Given the description of an element on the screen output the (x, y) to click on. 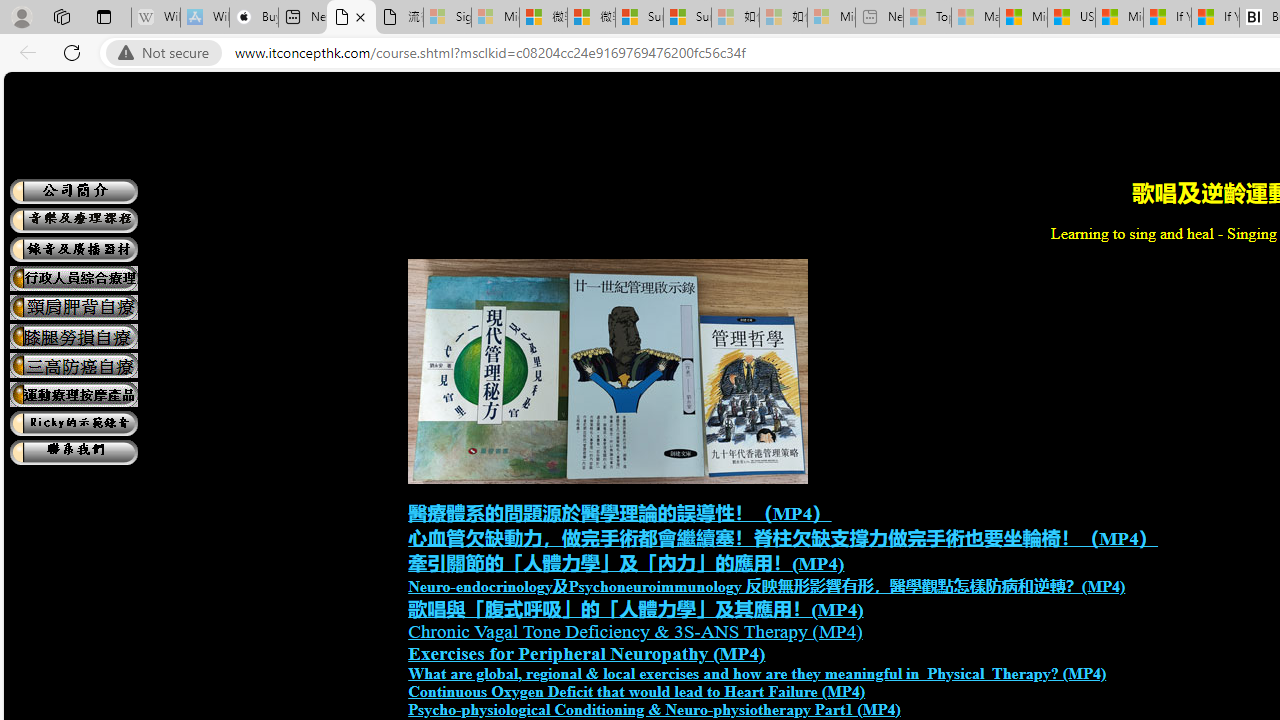
Exercises for Peripheral Neuropathy (MP4) (586, 653)
Not secure (168, 53)
Top Stories - MSN - Sleeping (927, 17)
Wikipedia - Sleeping (155, 17)
Buy iPad - Apple (253, 17)
